Given the description of an element on the screen output the (x, y) to click on. 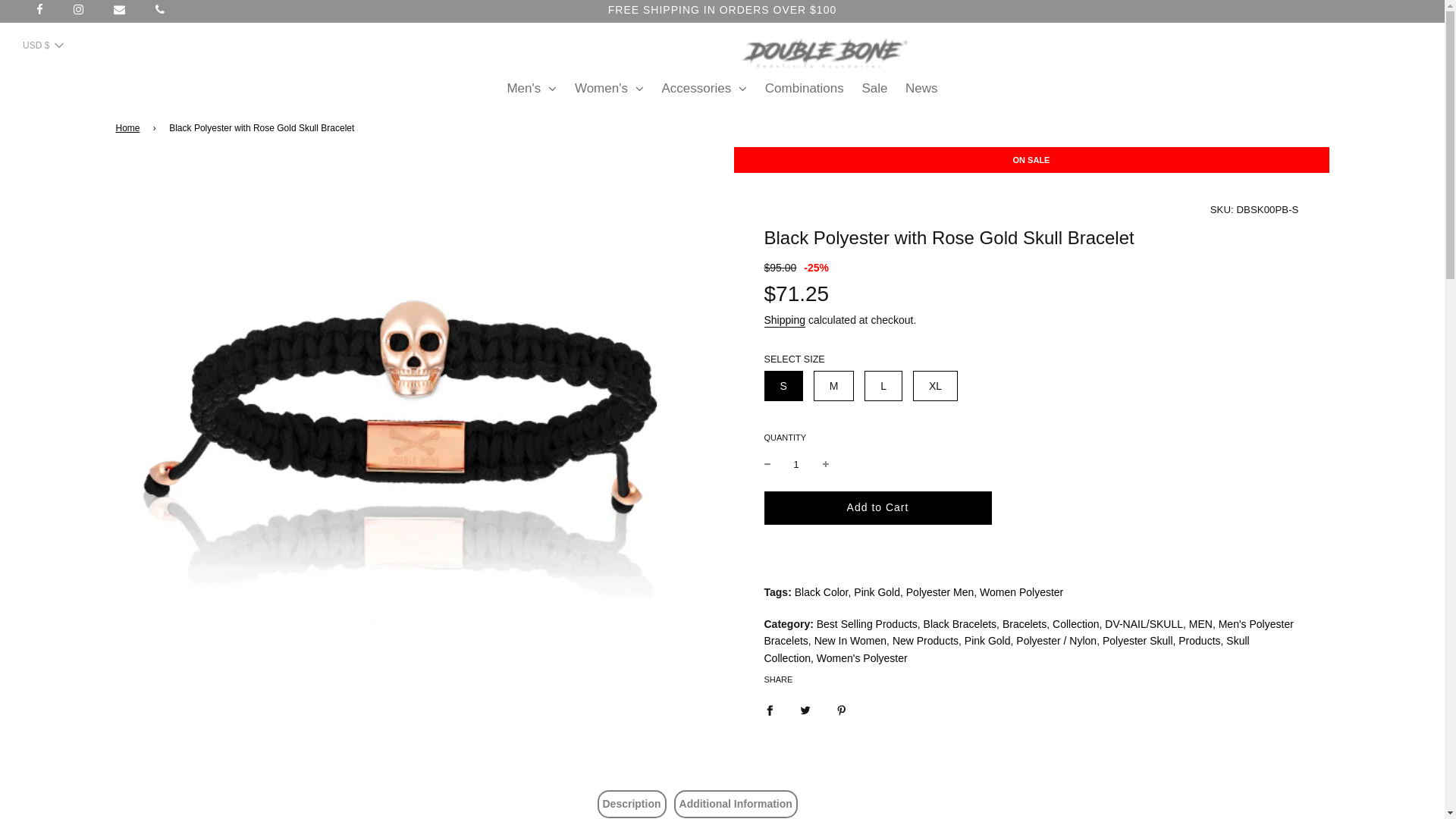
1 (796, 463)
